Given the description of an element on the screen output the (x, y) to click on. 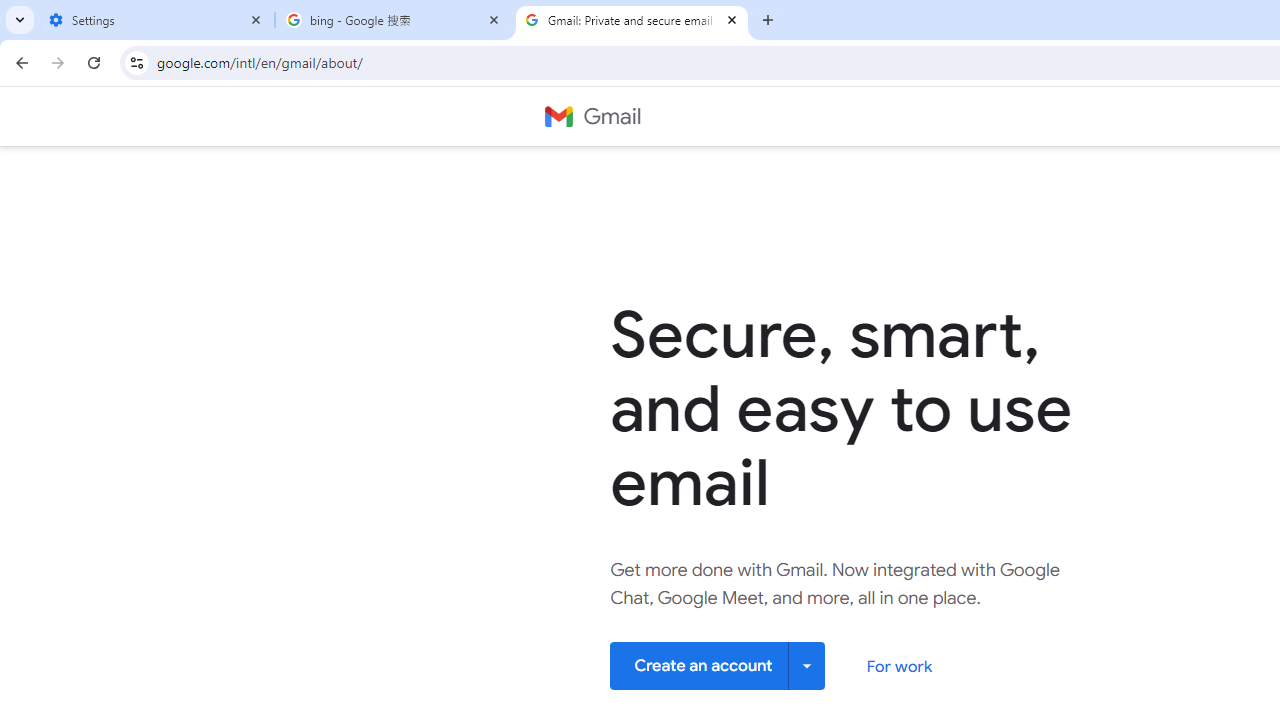
Gmail (592, 116)
Create an account (717, 664)
For work (898, 665)
Settings (156, 20)
